Given the description of an element on the screen output the (x, y) to click on. 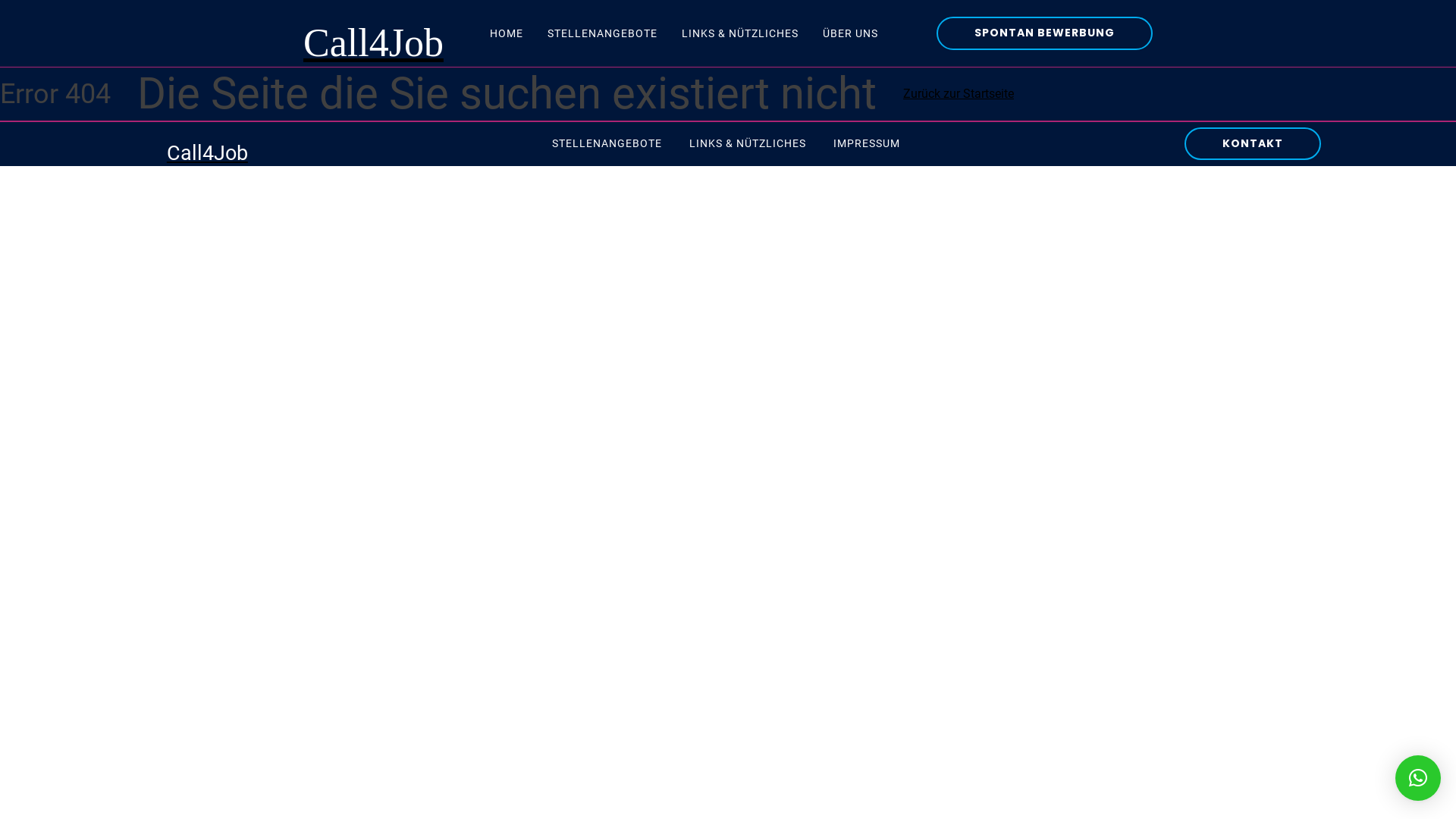
STELLENANGEBOTE Element type: text (606, 142)
HOME Element type: text (506, 33)
KONTAKT Element type: text (1252, 143)
Call4Job Element type: text (369, 33)
IMPRESSUM Element type: text (866, 142)
SPONTAN BEWERBUNG Element type: text (1044, 32)
STELLENANGEBOTE Element type: text (602, 33)
Call4Job Element type: text (200, 144)
